Given the description of an element on the screen output the (x, y) to click on. 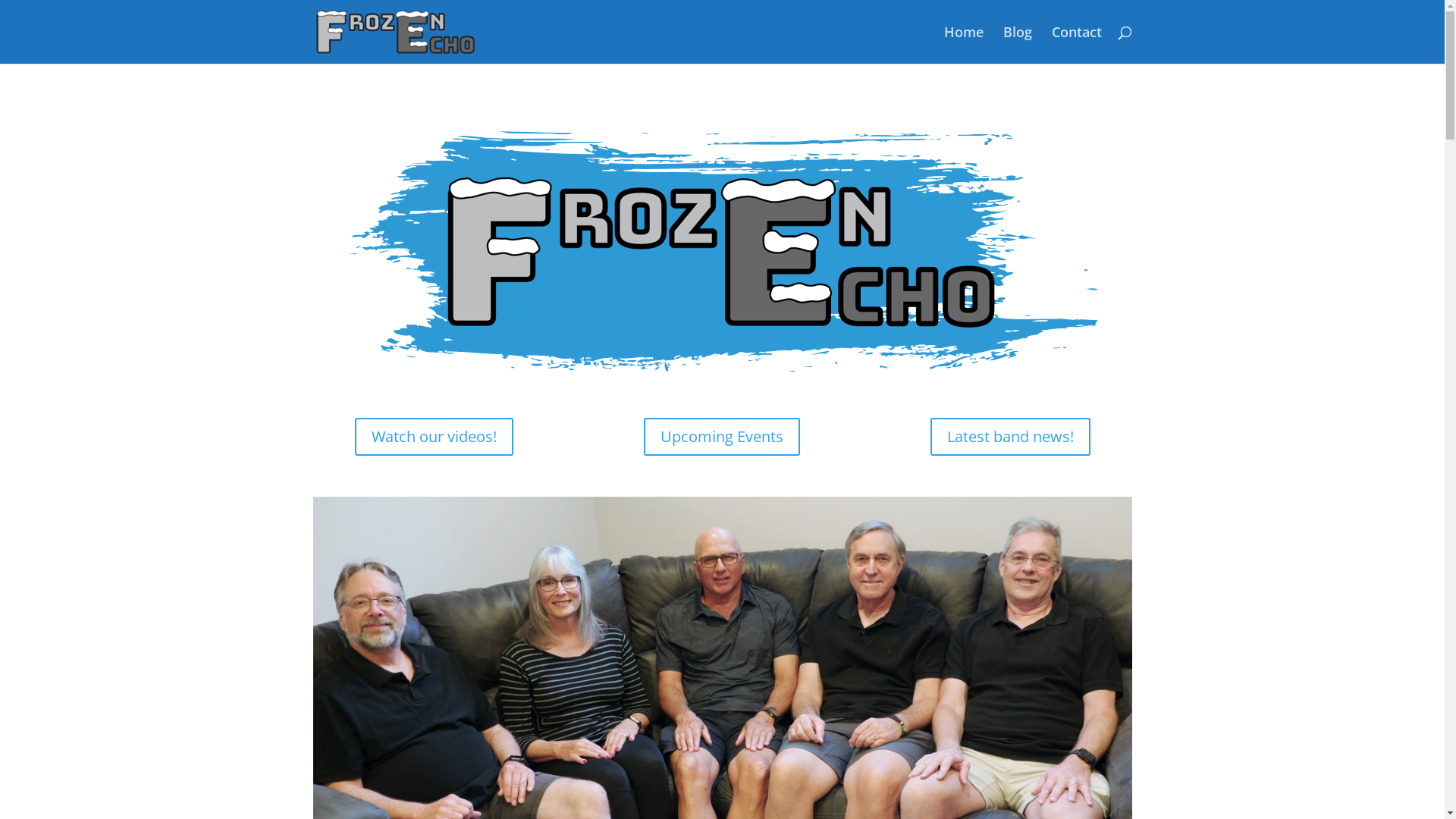
Contact Element type: text (1076, 44)
Latest band news! Element type: text (1010, 436)
Upcoming Events Element type: text (721, 436)
Home Element type: text (962, 44)
Blog Element type: text (1016, 44)
Watch our videos! Element type: text (433, 436)
